Given the description of an element on the screen output the (x, y) to click on. 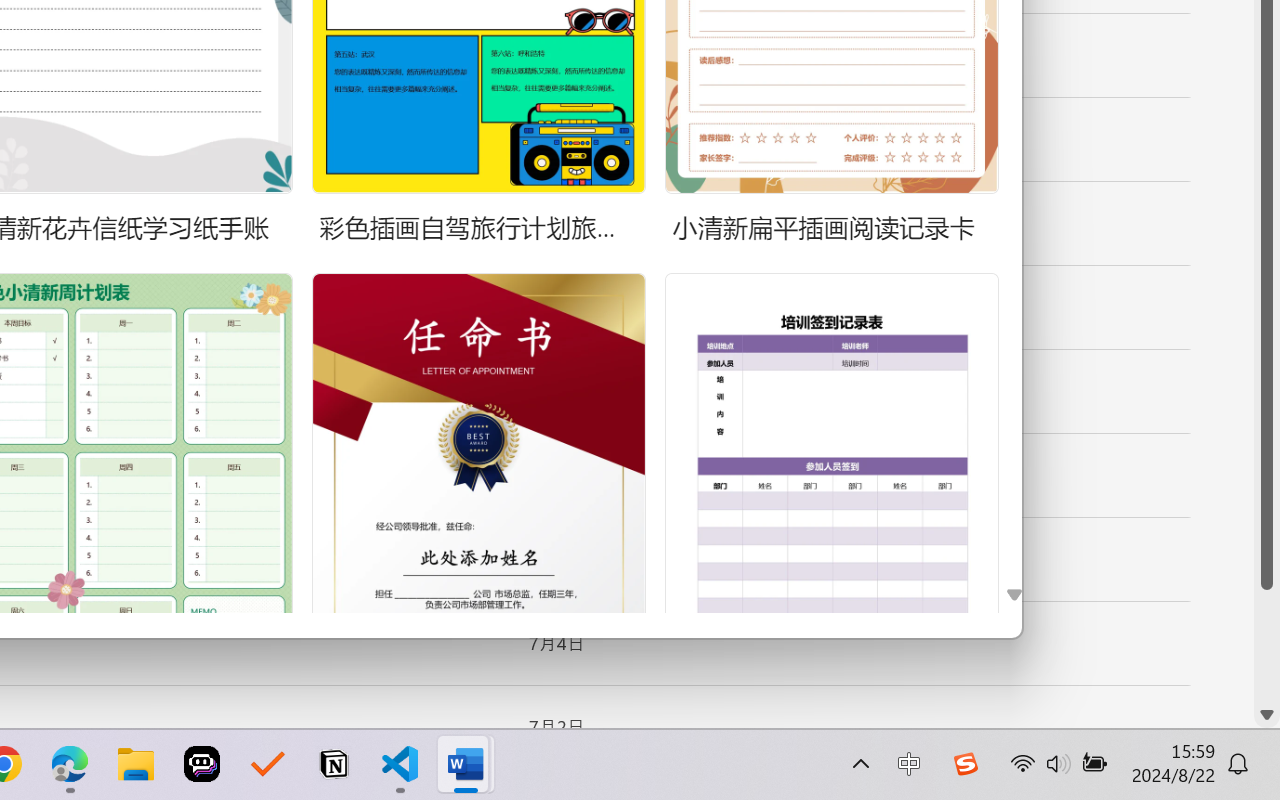
Notion (333, 764)
Pin this item to the list (480, 727)
Page down (1267, 646)
